Given the description of an element on the screen output the (x, y) to click on. 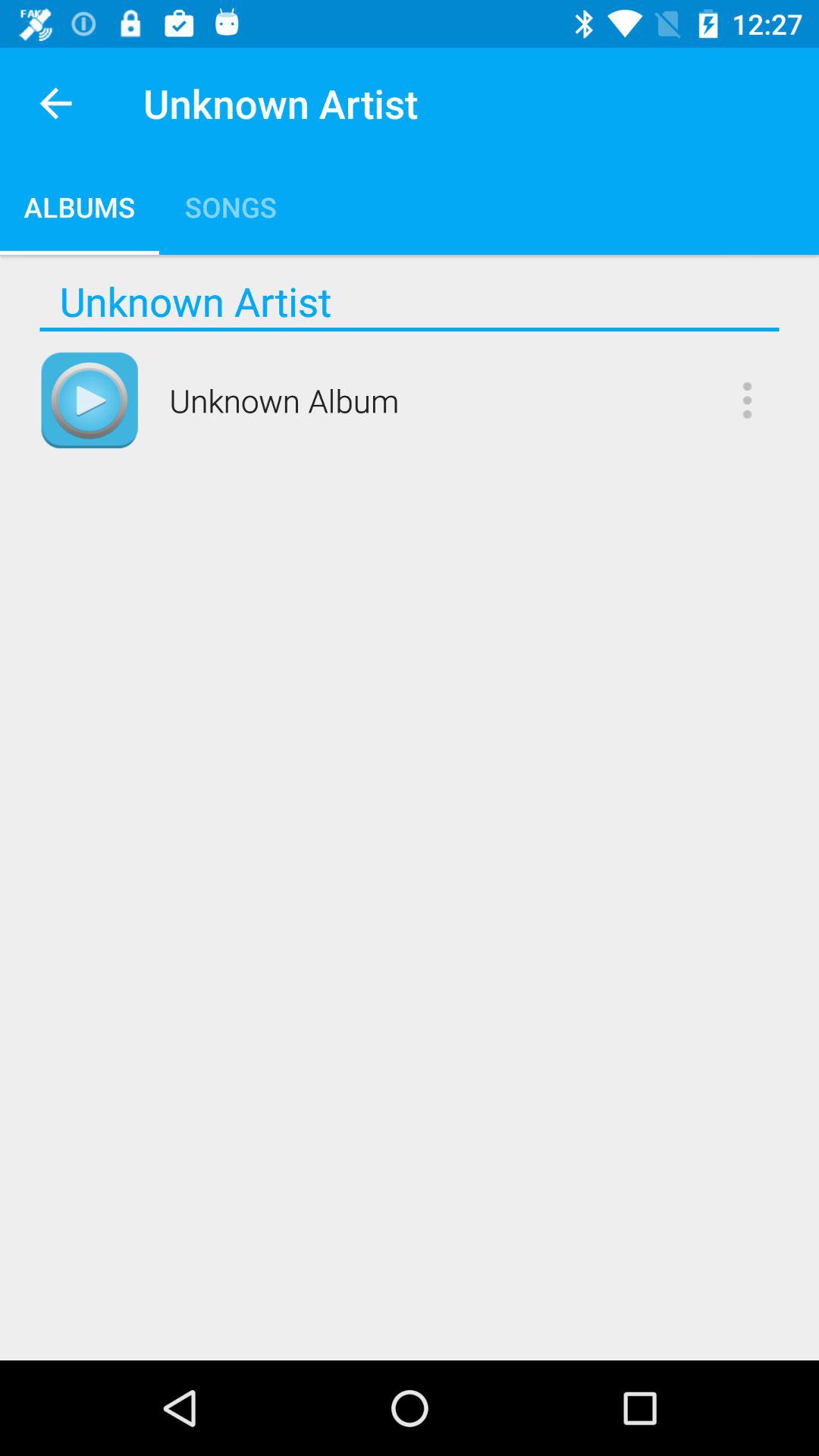
press the item below the unknown artist (409, 329)
